Given the description of an element on the screen output the (x, y) to click on. 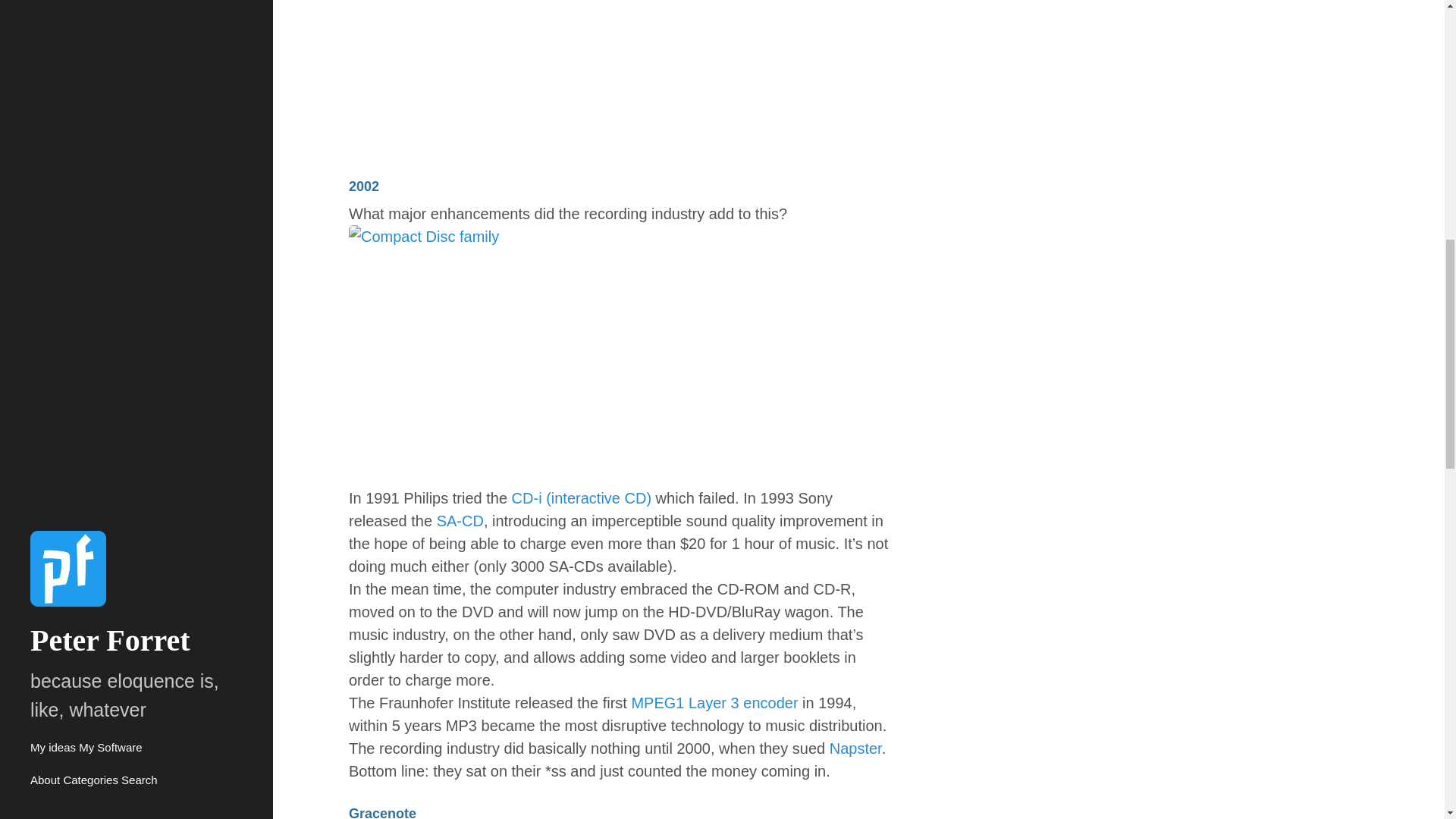
SA-CD (459, 520)
Photo Sharing (622, 75)
MPEG1 Layer 3 encoder (713, 702)
Napster (855, 748)
